Given the description of an element on the screen output the (x, y) to click on. 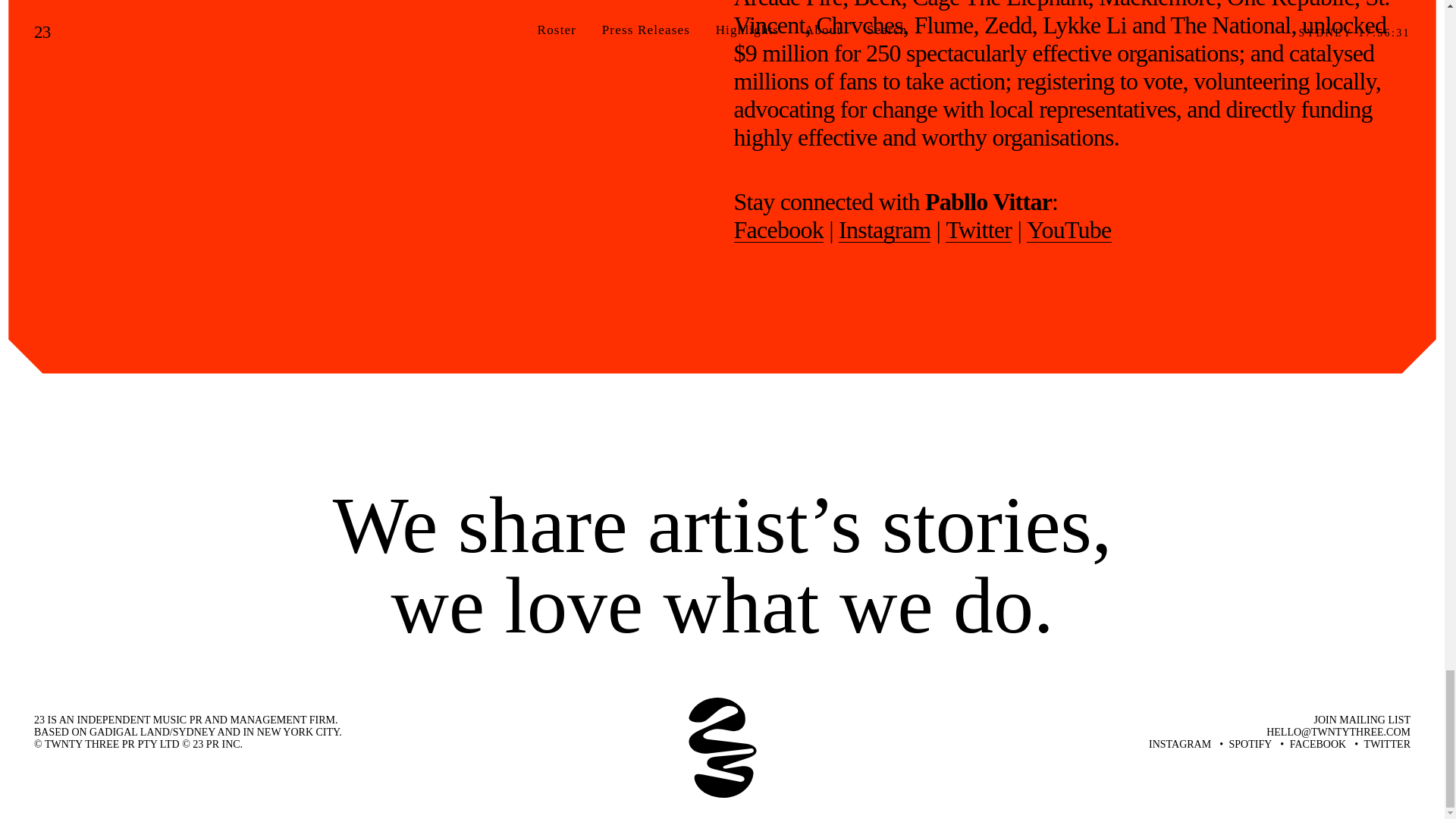
FACEBOOK (1317, 744)
TWITTER (1387, 744)
Twitter (977, 229)
YouTube (1068, 229)
Instagram (884, 229)
SPOTIFY (1250, 744)
Send (1394, 715)
JOIN MAILING LIST (1361, 719)
INSTAGRAM (1179, 744)
Facebook (778, 229)
